Given the description of an element on the screen output the (x, y) to click on. 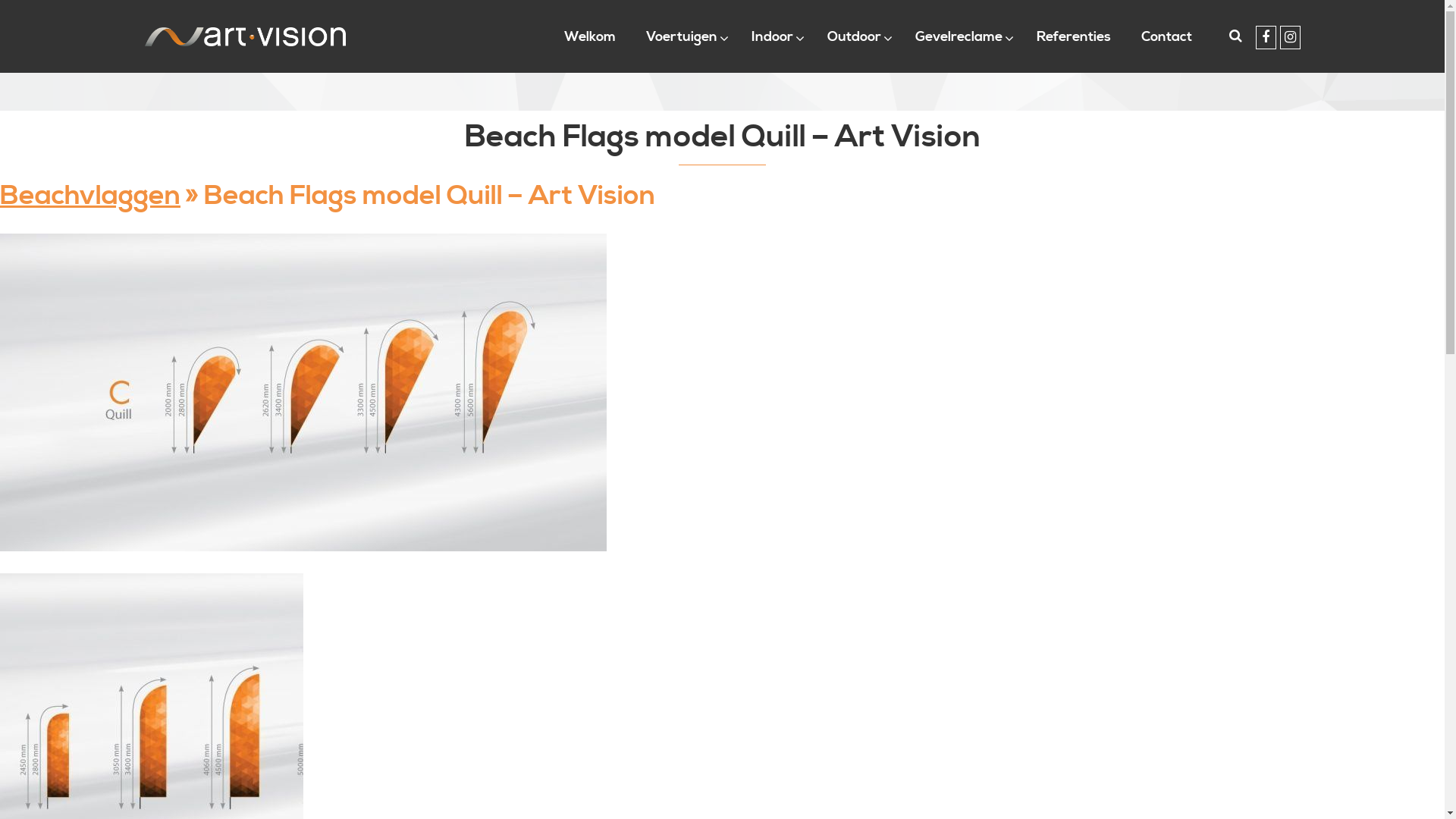
Referenties Element type: text (1073, 36)
Beachvlaggen Element type: text (90, 195)
Contact Element type: text (1166, 36)
Indoor Element type: text (774, 36)
Welkom Element type: text (589, 36)
Gevelreclame Element type: text (960, 36)
Voertuigen Element type: text (683, 36)
Outdoor Element type: text (856, 36)
